Given the description of an element on the screen output the (x, y) to click on. 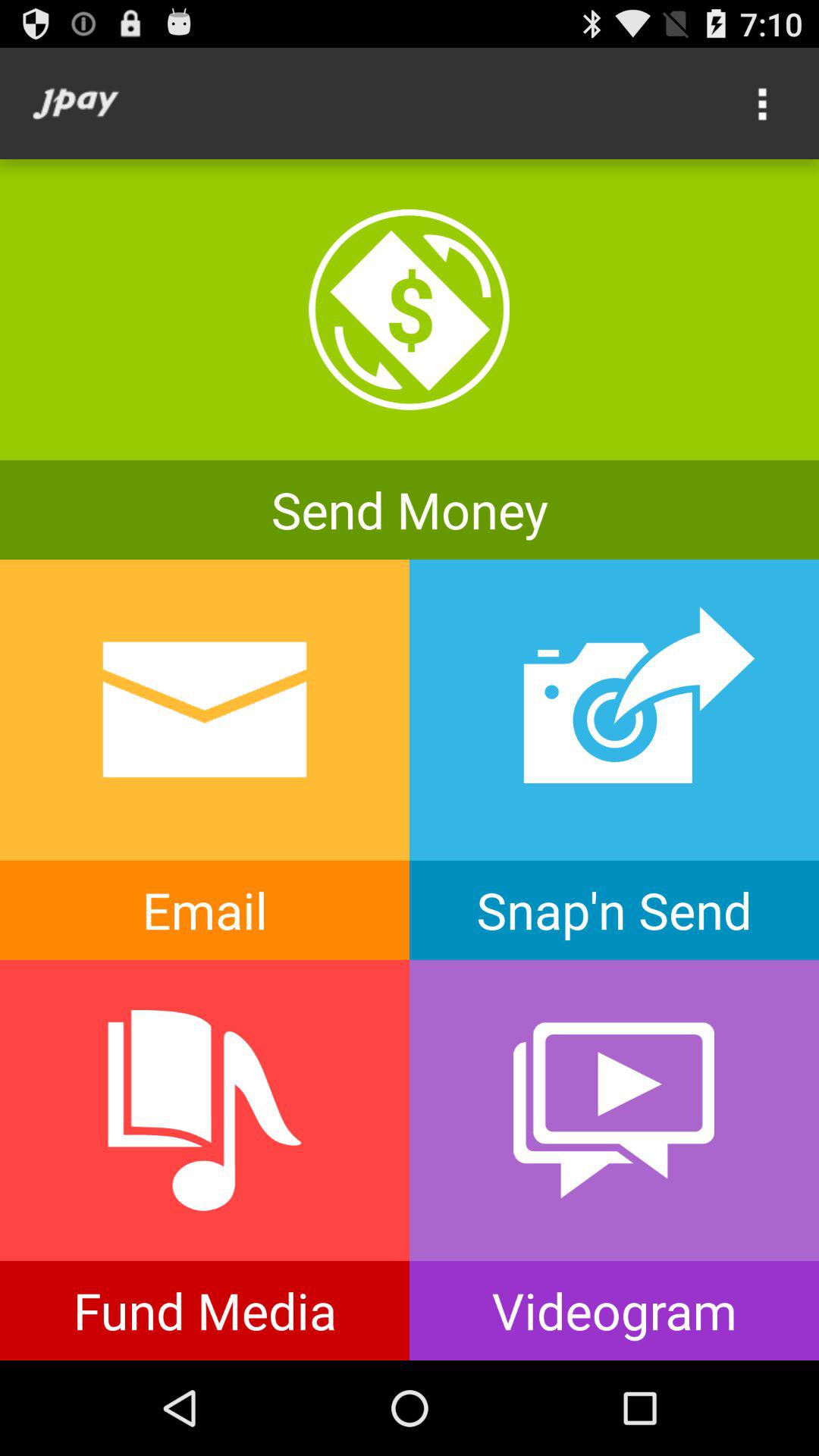
email option (204, 759)
